Given the description of an element on the screen output the (x, y) to click on. 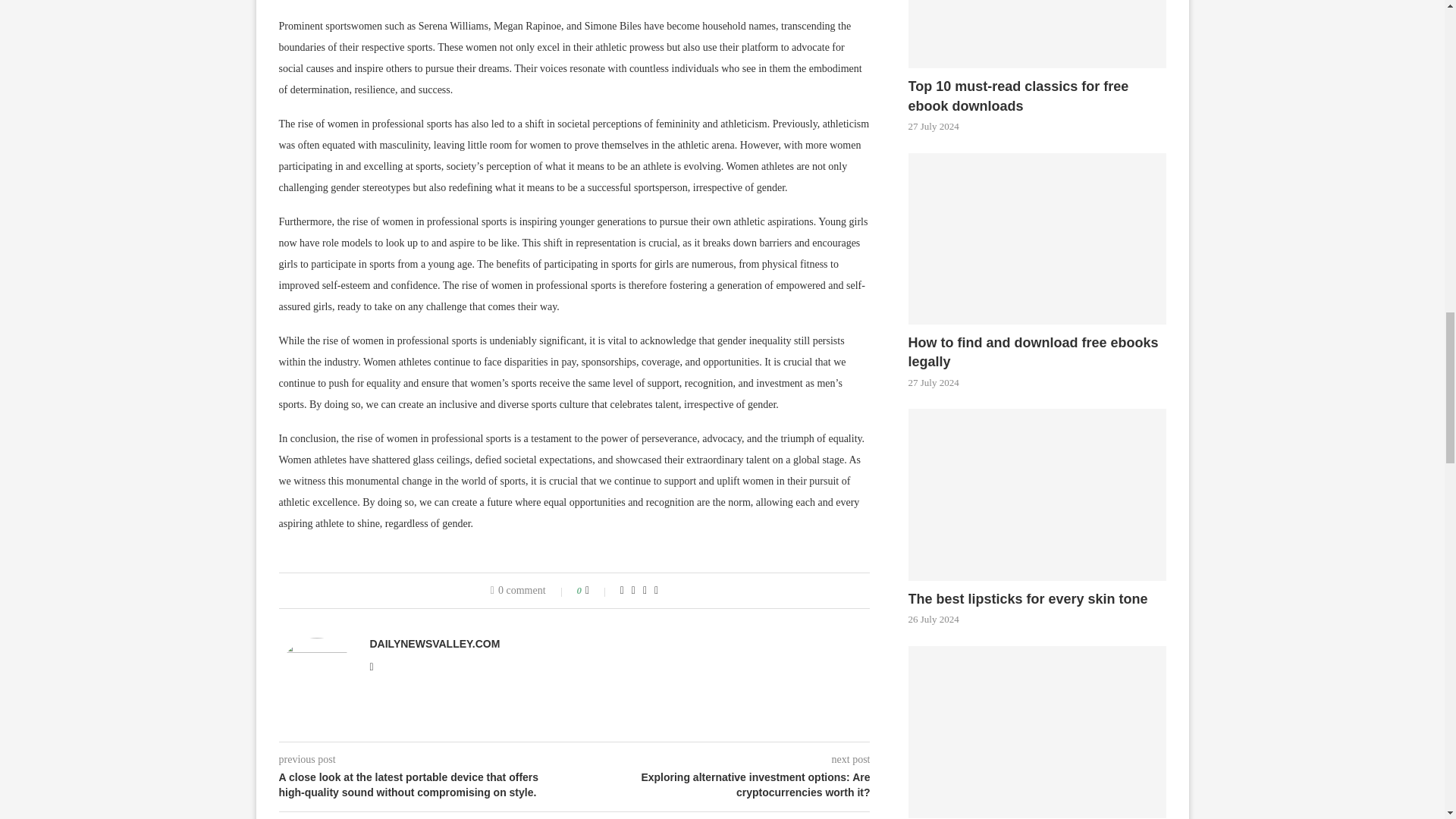
Author dailynewsvalley.com (434, 644)
Like (597, 590)
